Given the description of an element on the screen output the (x, y) to click on. 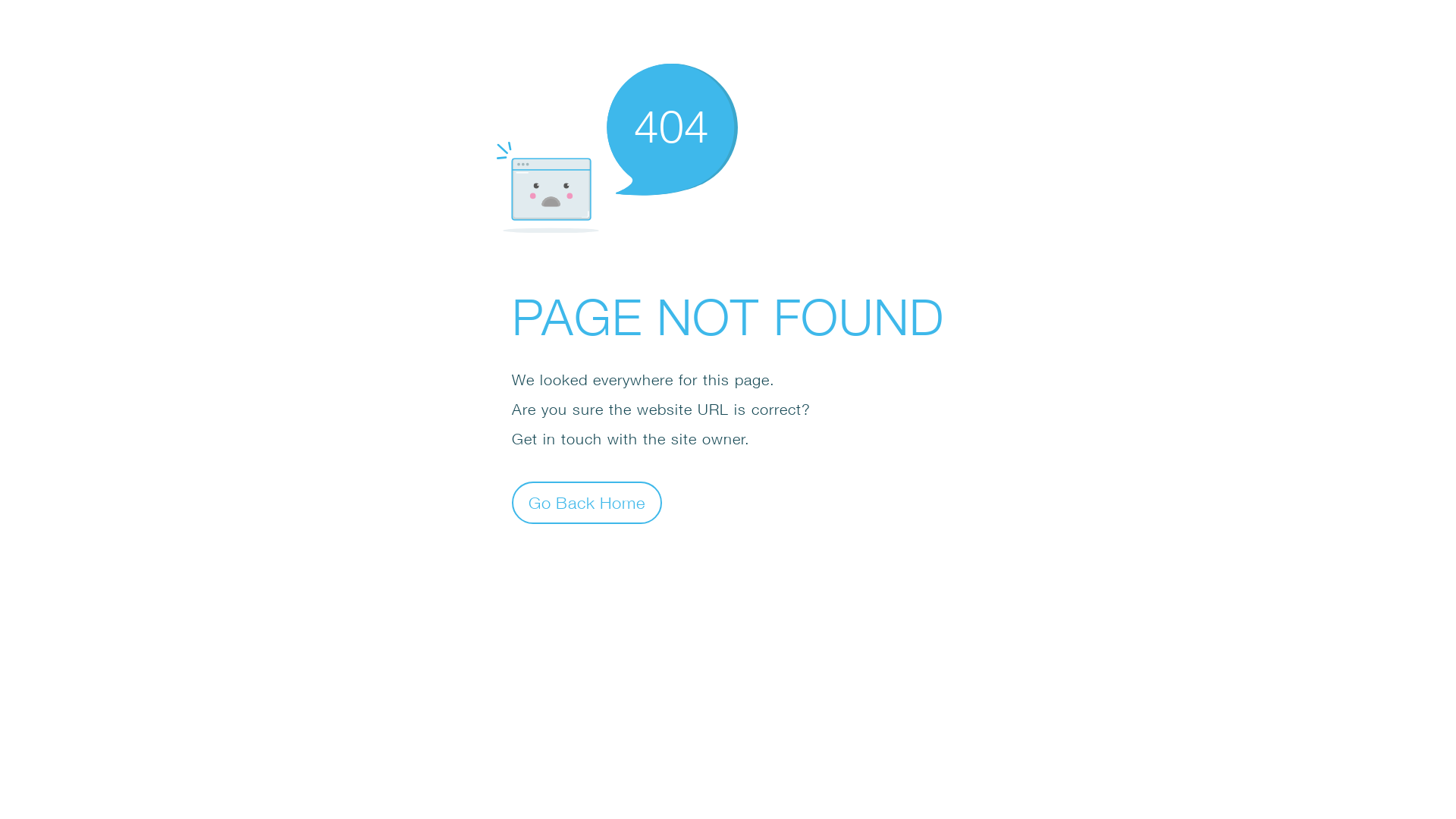
Go Back Home Element type: text (586, 502)
